Given the description of an element on the screen output the (x, y) to click on. 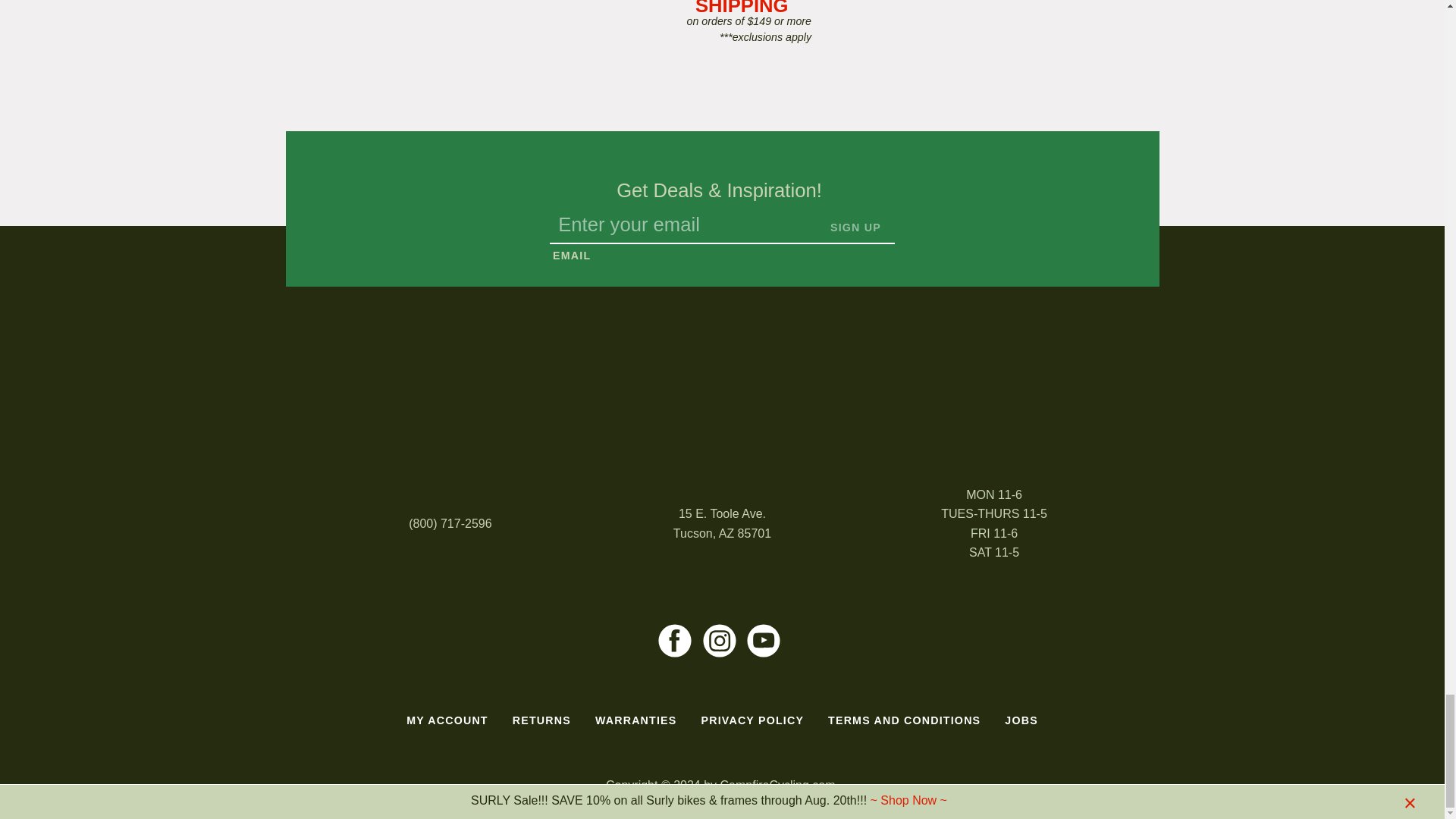
Instagram (718, 640)
to home page (722, 386)
Facebook (675, 640)
YouTube (762, 640)
